Given the description of an element on the screen output the (x, y) to click on. 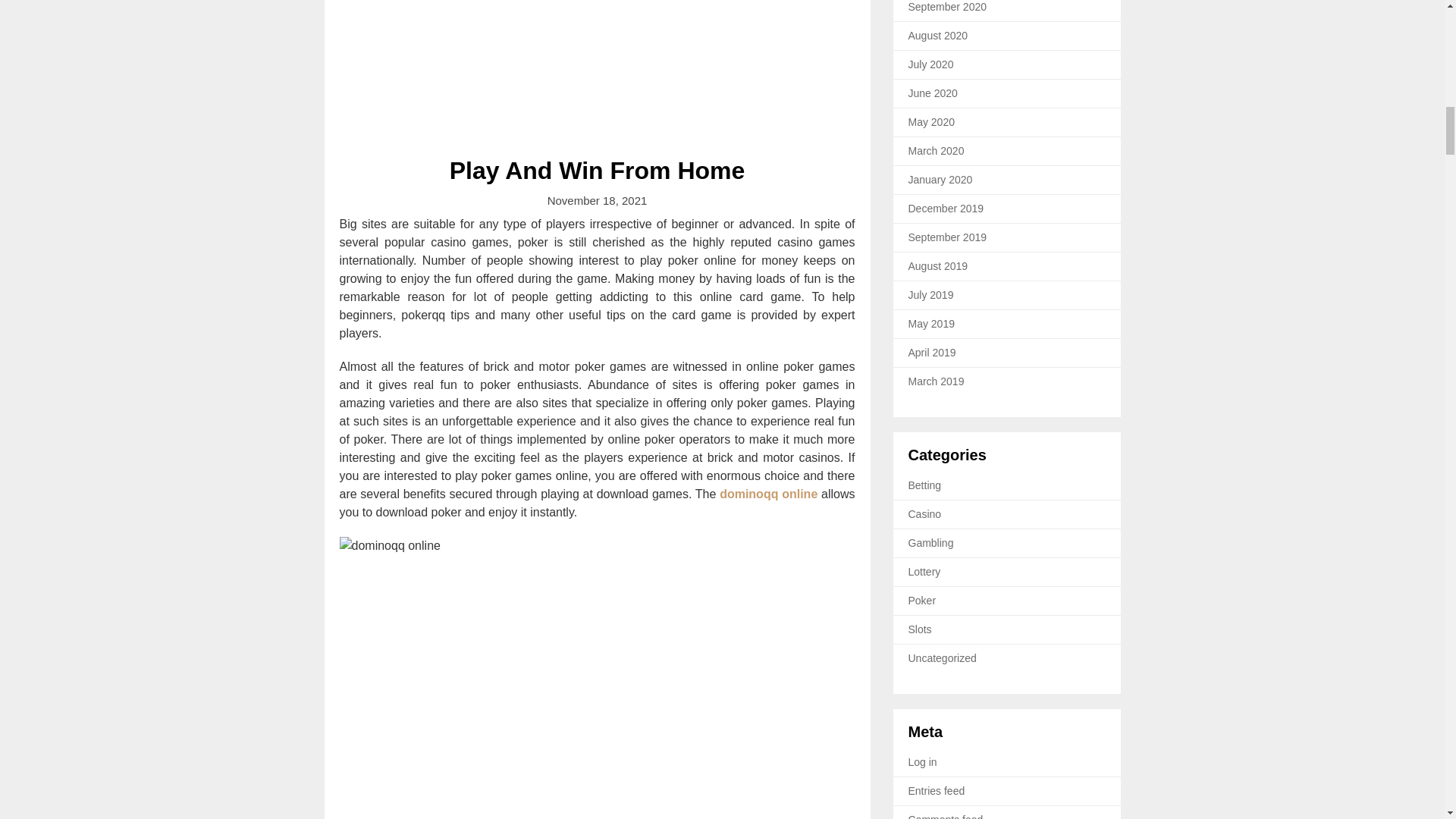
Play And Win From Home (597, 170)
Play And Win From Home (597, 69)
dominoqq online (767, 493)
Play And Win From Home (597, 170)
